Given the description of an element on the screen output the (x, y) to click on. 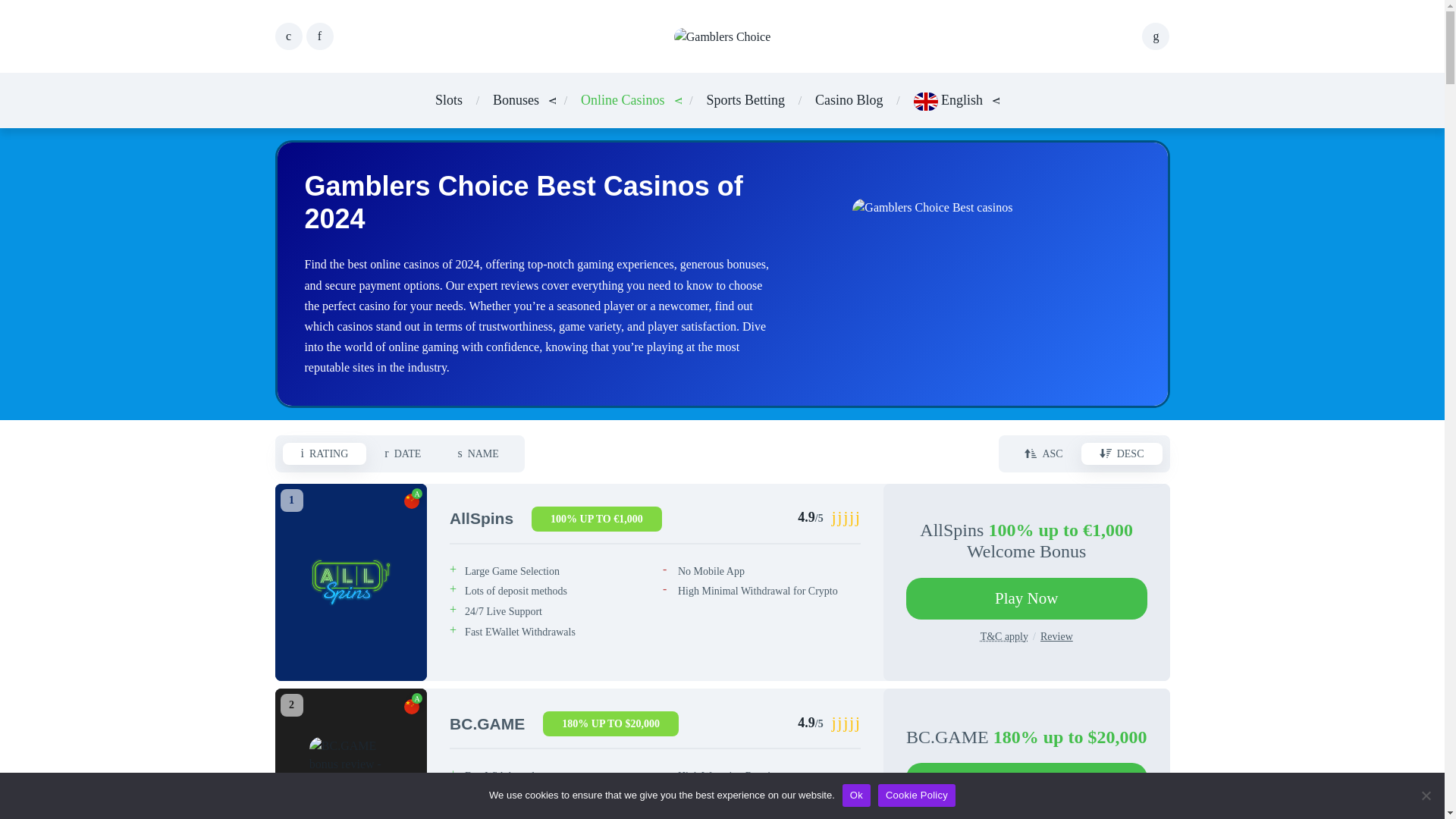
No (1425, 795)
Review (1057, 817)
Slots (449, 100)
NAME (477, 454)
Play Now (1026, 598)
DESC (1121, 454)
RATING (324, 454)
Bonuses (515, 100)
ASC (1043, 454)
Play Now (1026, 783)
Review (1057, 636)
Online Casinos (622, 100)
English (949, 100)
Sports Betting (746, 100)
Casino Blog (849, 100)
